Given the description of an element on the screen output the (x, y) to click on. 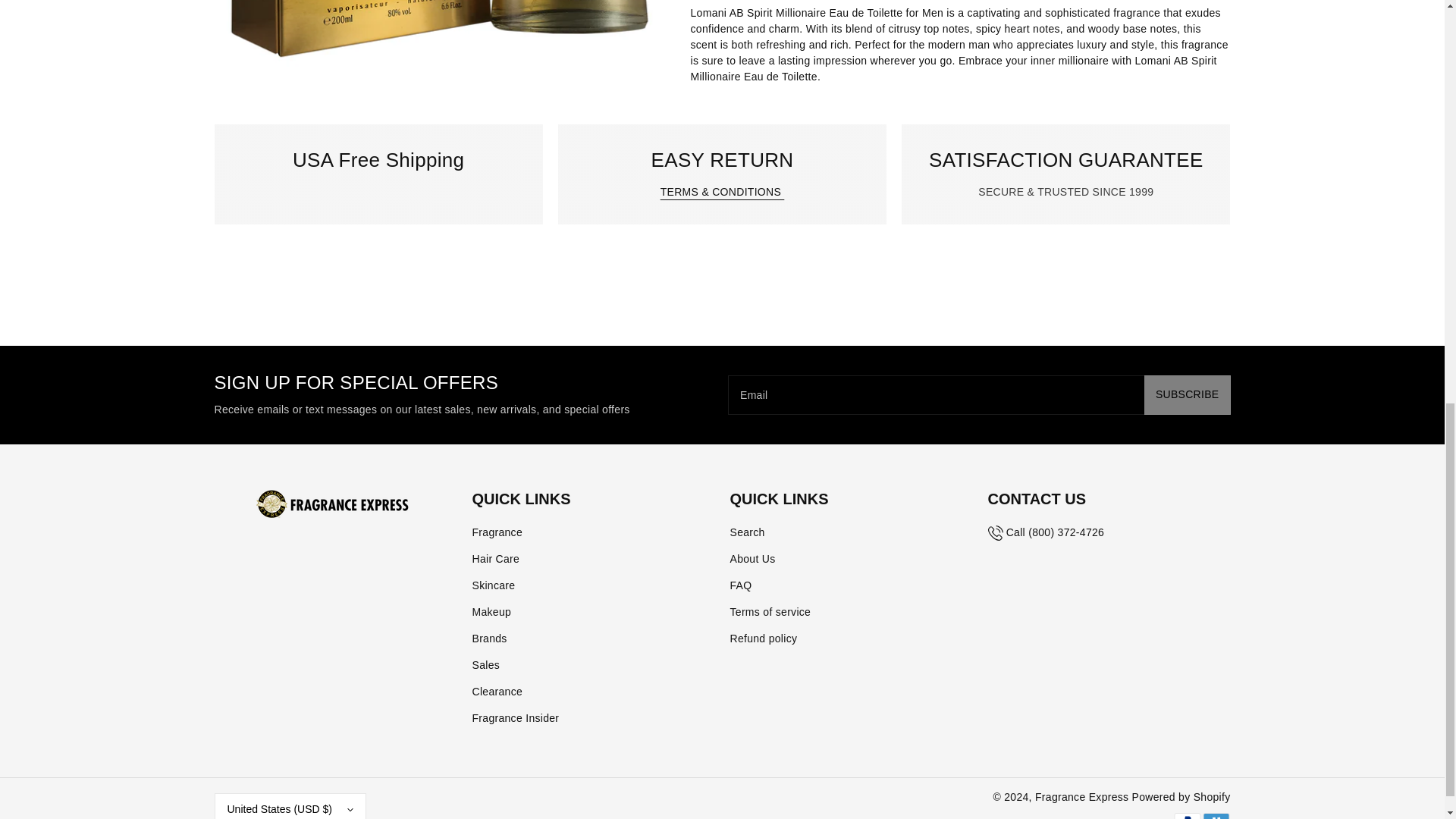
Venmo (1215, 816)
PayPal (1186, 816)
